Given the description of an element on the screen output the (x, y) to click on. 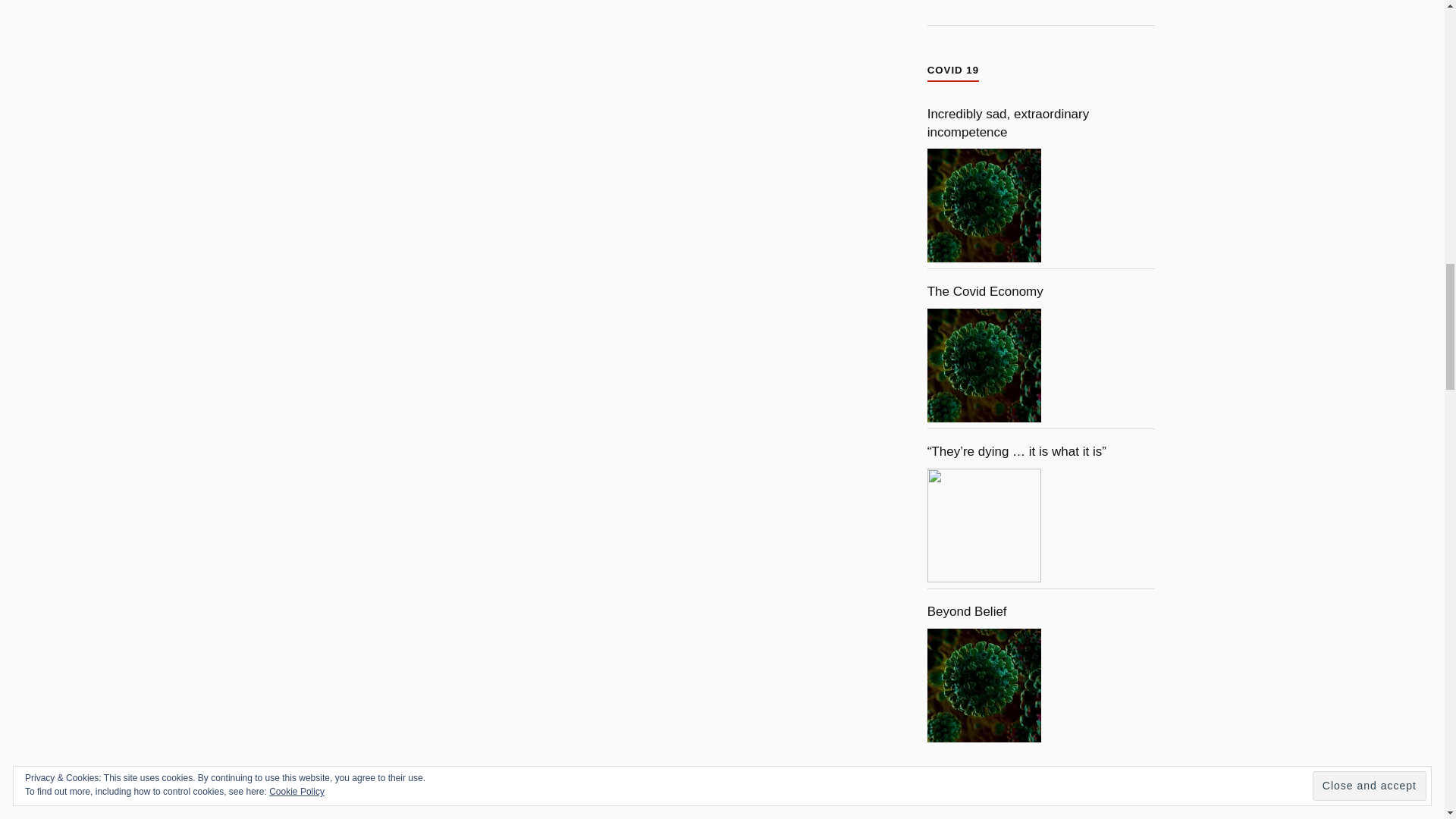
Incredibly sad, extraordinary incompetence (984, 205)
The Covid Economy (984, 365)
Beyond Belief (984, 685)
